Given the description of an element on the screen output the (x, y) to click on. 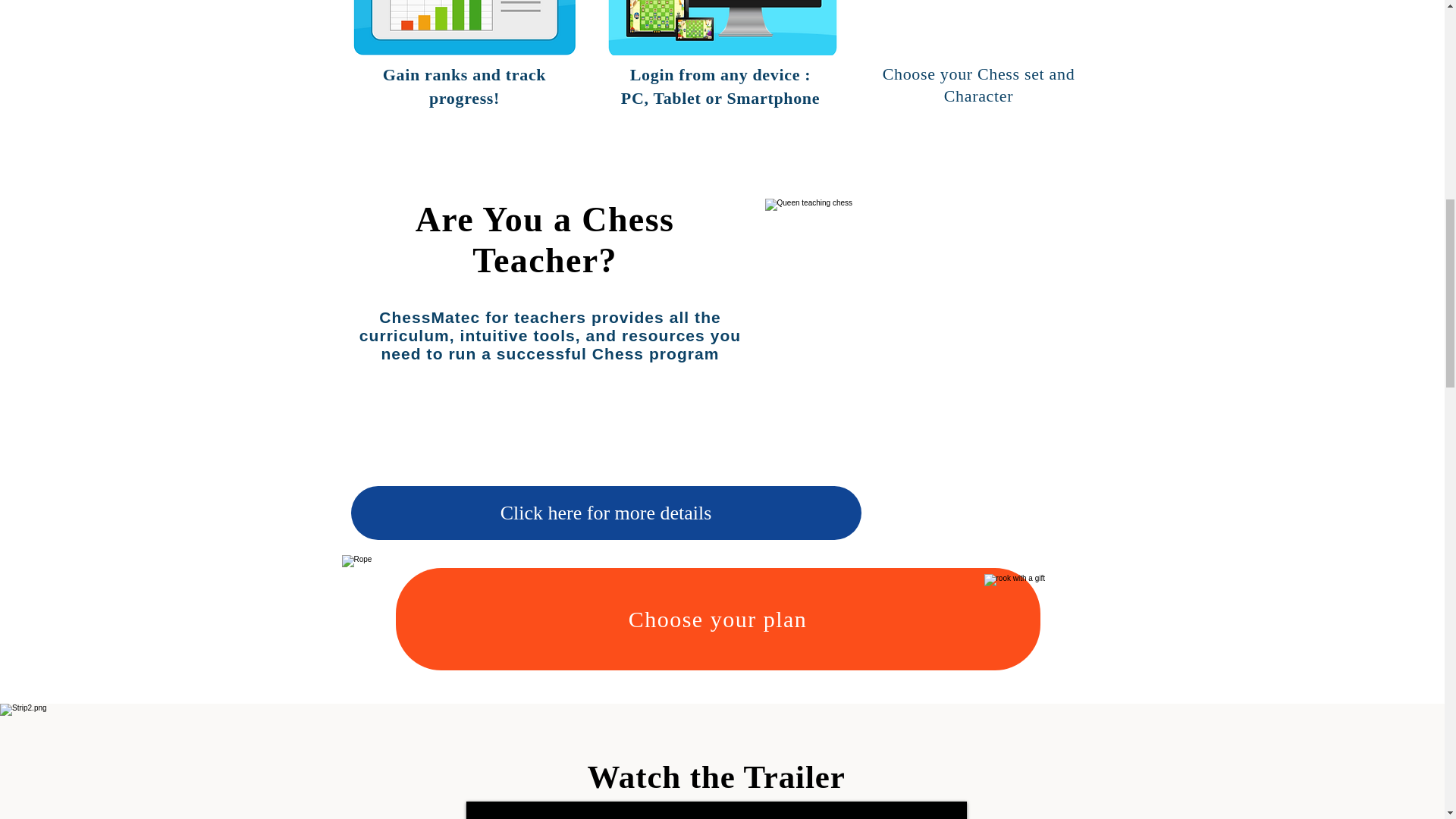
External YouTube (715, 810)
Click here for more details (605, 512)
Choose your plan (718, 619)
